Given the description of an element on the screen output the (x, y) to click on. 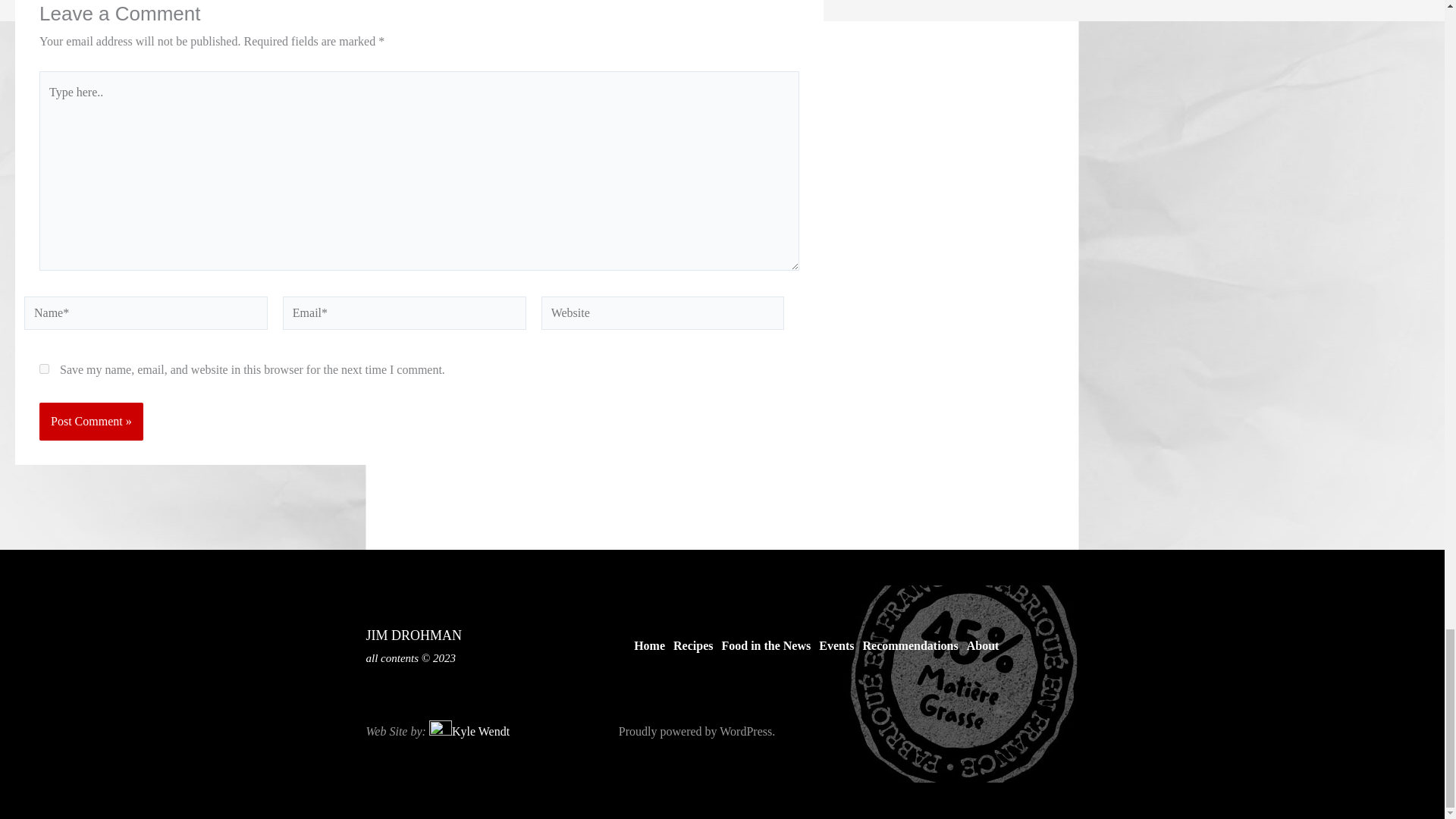
yes (44, 368)
